Given the description of an element on the screen output the (x, y) to click on. 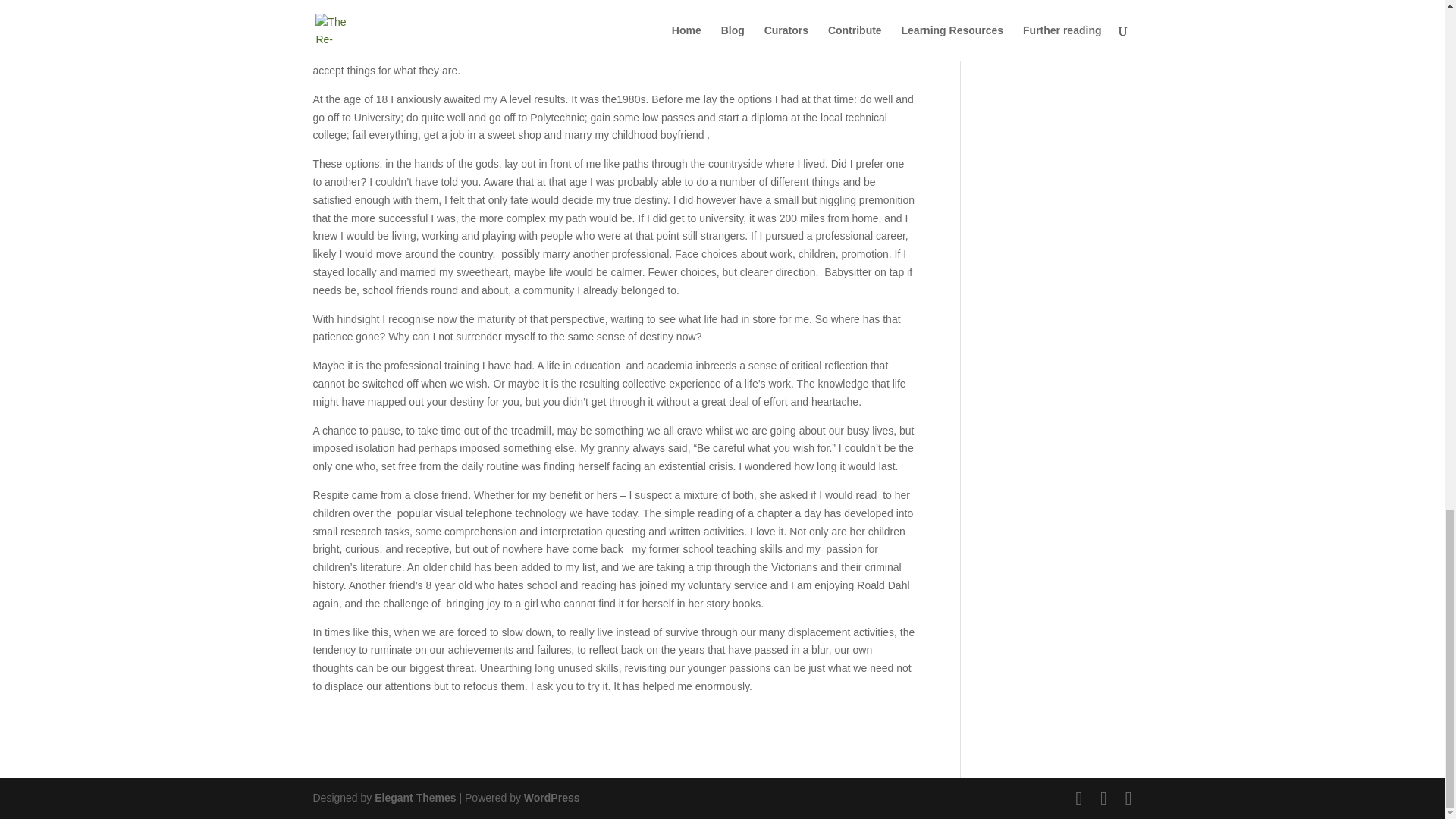
WordPress (551, 797)
Premium WordPress Themes (414, 797)
Elegant Themes (414, 797)
